Given the description of an element on the screen output the (x, y) to click on. 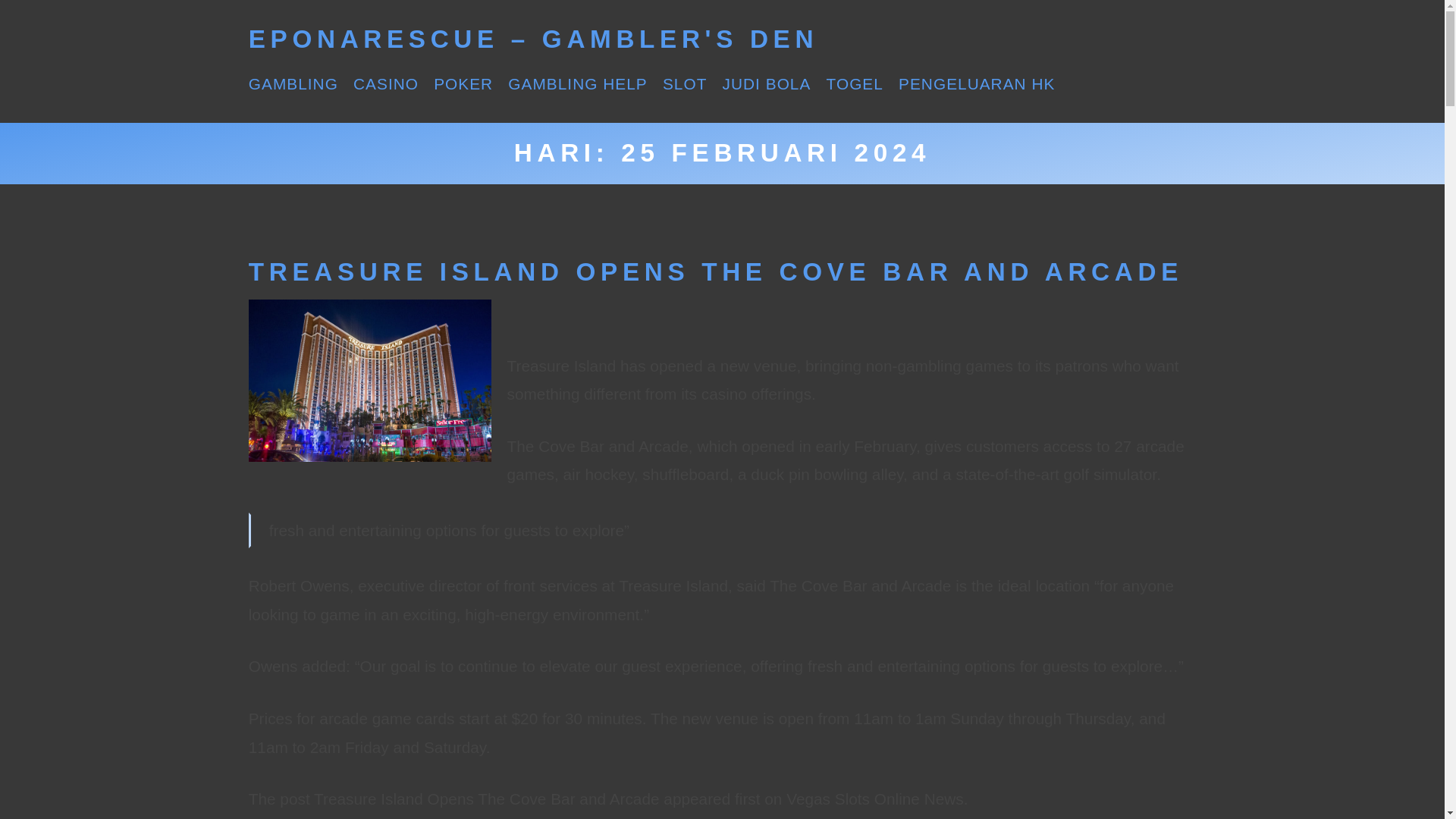
JUDI BOLA (766, 83)
GAMBLING (292, 83)
CASINO (386, 83)
SLOT (684, 83)
PENGELUARAN HK (976, 83)
TOGEL (855, 83)
TREASURE ISLAND OPENS THE COVE BAR AND ARCADE (715, 271)
POKER (463, 83)
GAMBLING HELP (577, 83)
